Given the description of an element on the screen output the (x, y) to click on. 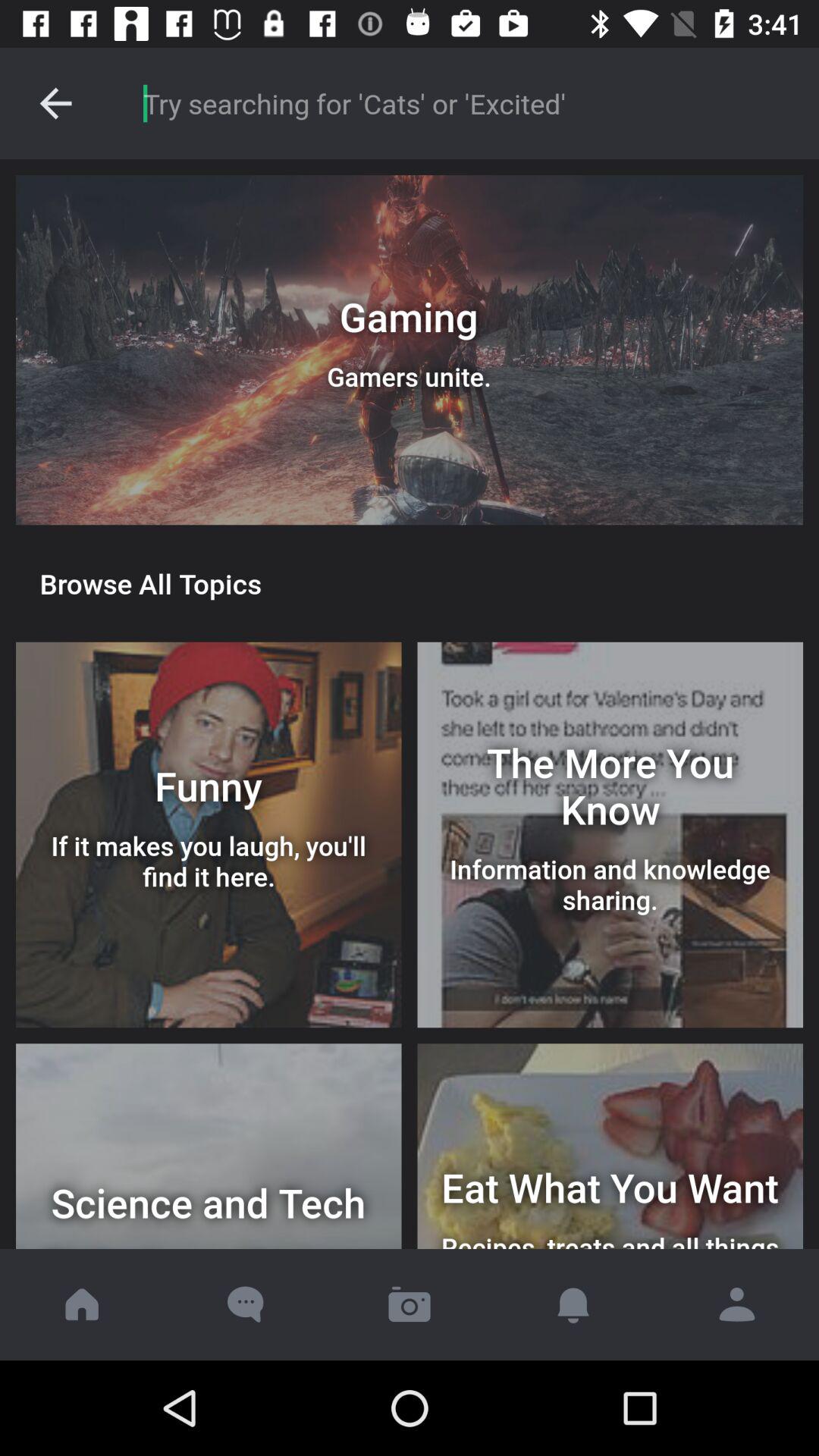
turn on the icon below eat what you (737, 1304)
